Given the description of an element on the screen output the (x, y) to click on. 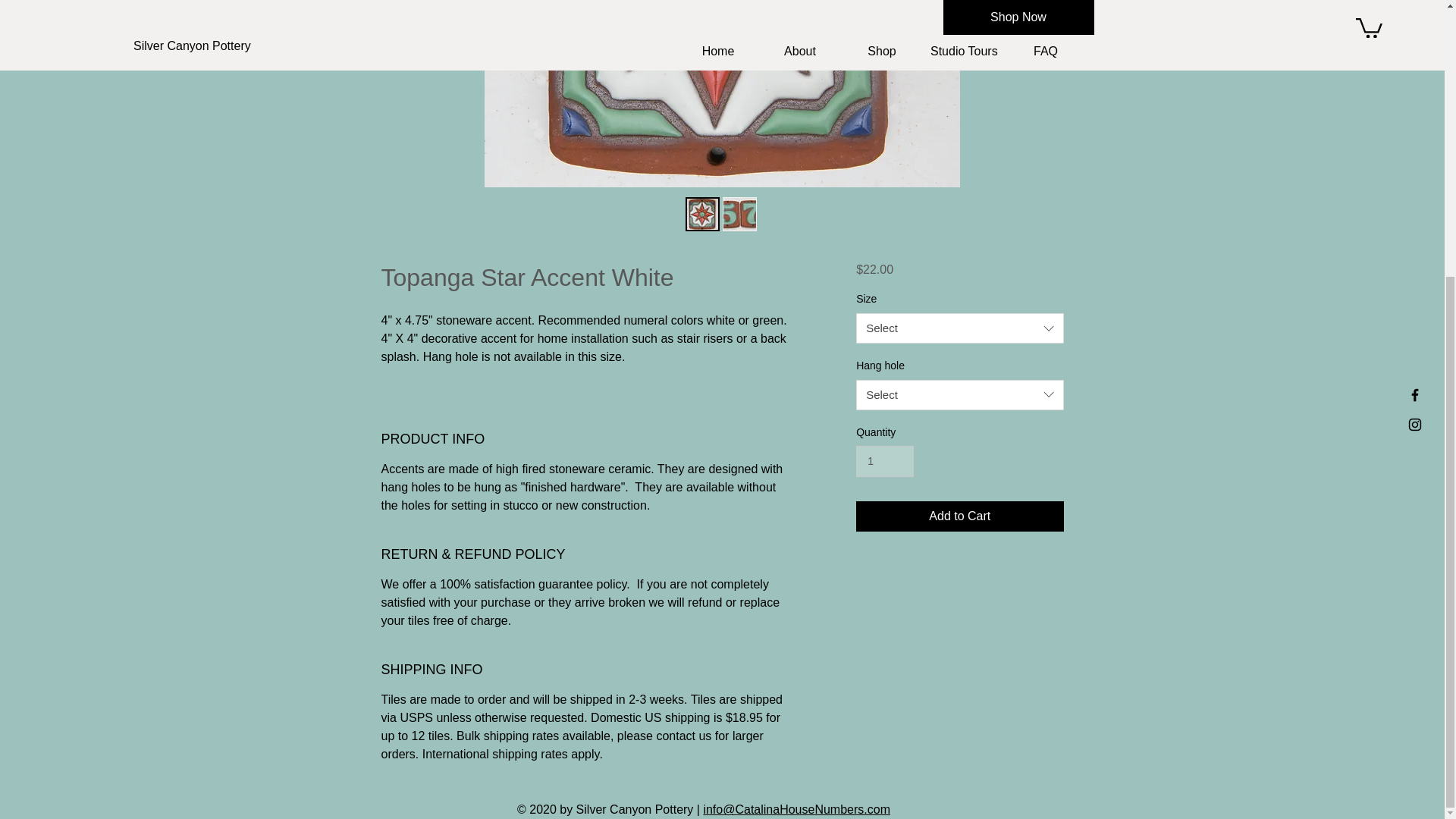
1 (885, 460)
Select (959, 395)
Select (959, 327)
Add to Cart (959, 516)
